Given the description of an element on the screen output the (x, y) to click on. 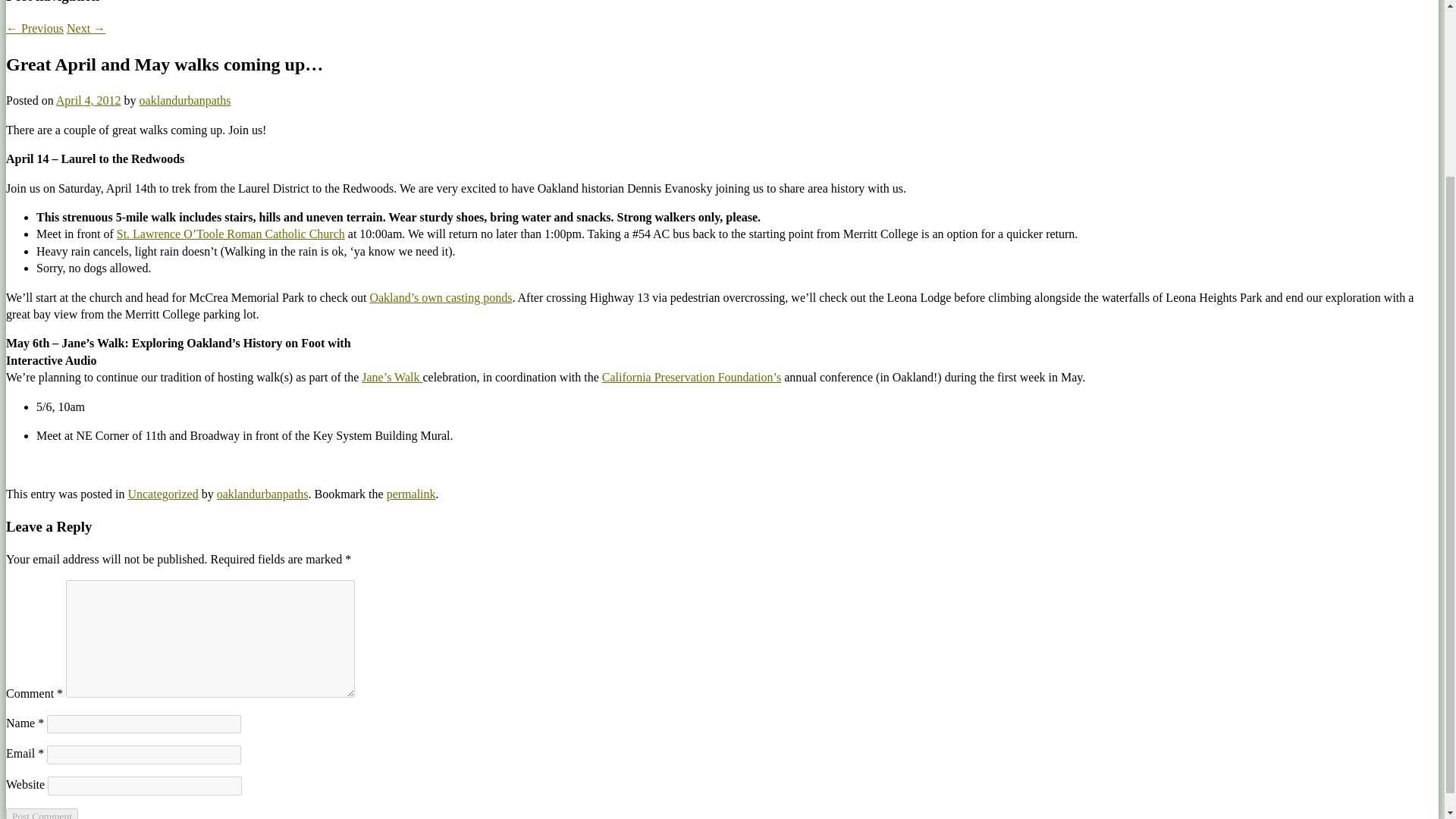
4:48 PM (88, 100)
oaklandurbanpaths (262, 493)
View all posts by oaklandurbanpaths (185, 100)
Uncategorized (163, 493)
oaklandurbanpaths (185, 100)
April 4, 2012 (88, 100)
permalink (411, 493)
